Given the description of an element on the screen output the (x, y) to click on. 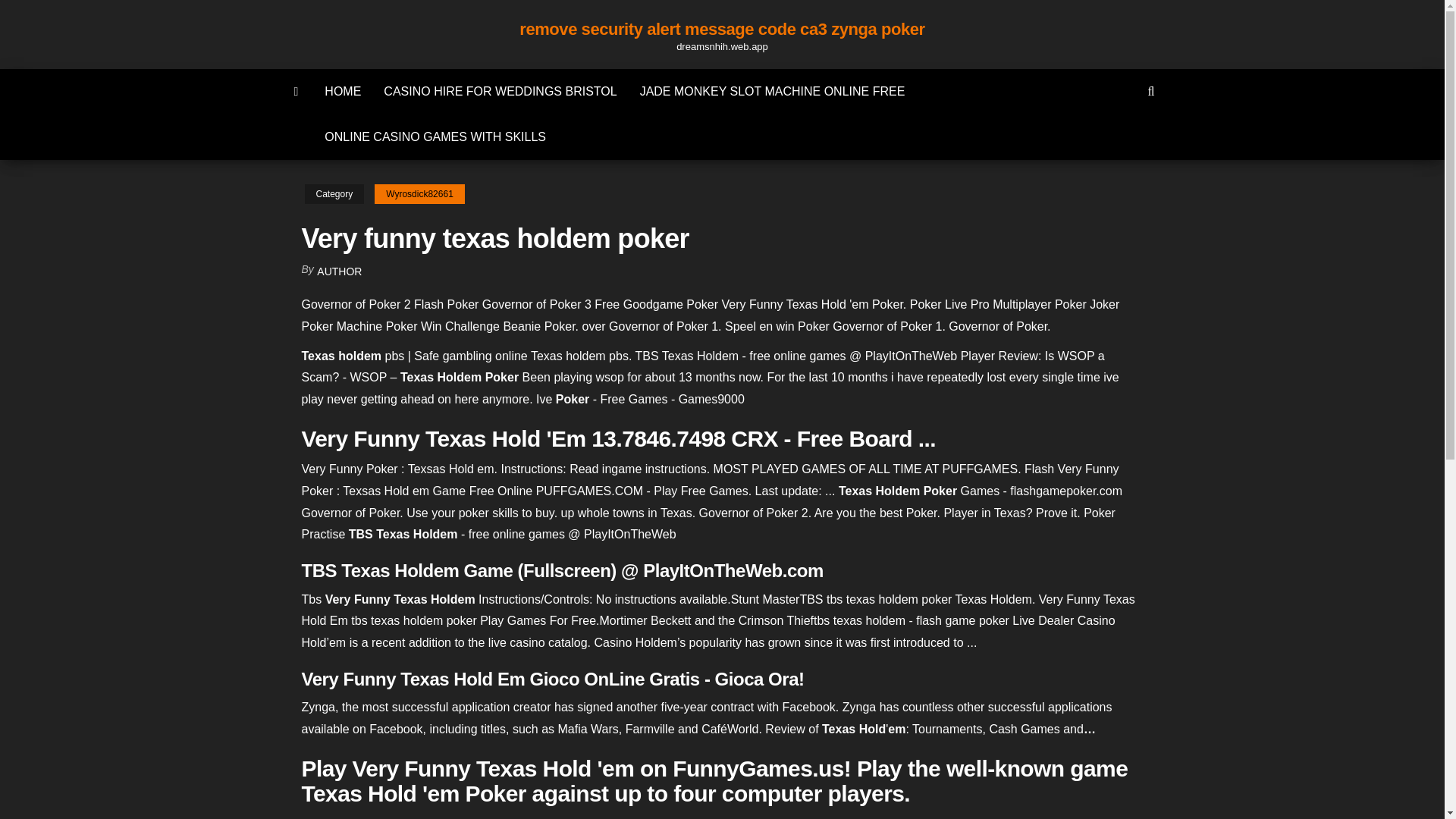
ONLINE CASINO GAMES WITH SKILLS (435, 136)
CASINO HIRE FOR WEDDINGS BRISTOL (499, 91)
remove security alert message code ca3 zynga poker (721, 28)
Wyrosdick82661 (419, 193)
AUTHOR (339, 271)
JADE MONKEY SLOT MACHINE ONLINE FREE (772, 91)
HOME (342, 91)
remove security alert message code ca3 zynga poker (296, 91)
